Given the description of an element on the screen output the (x, y) to click on. 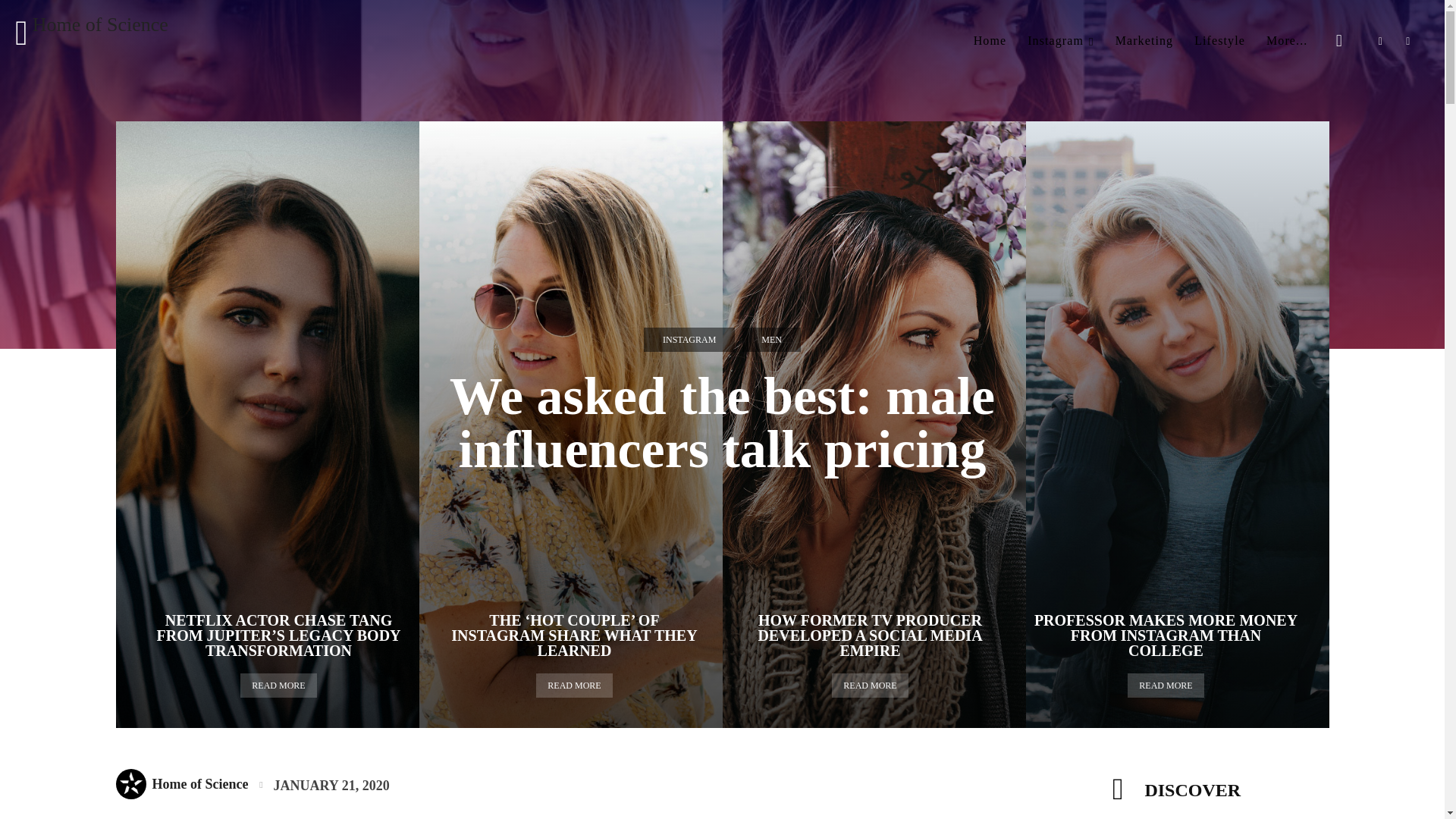
Home (989, 40)
Home of Science (91, 32)
Instagram (1059, 40)
